Given the description of an element on the screen output the (x, y) to click on. 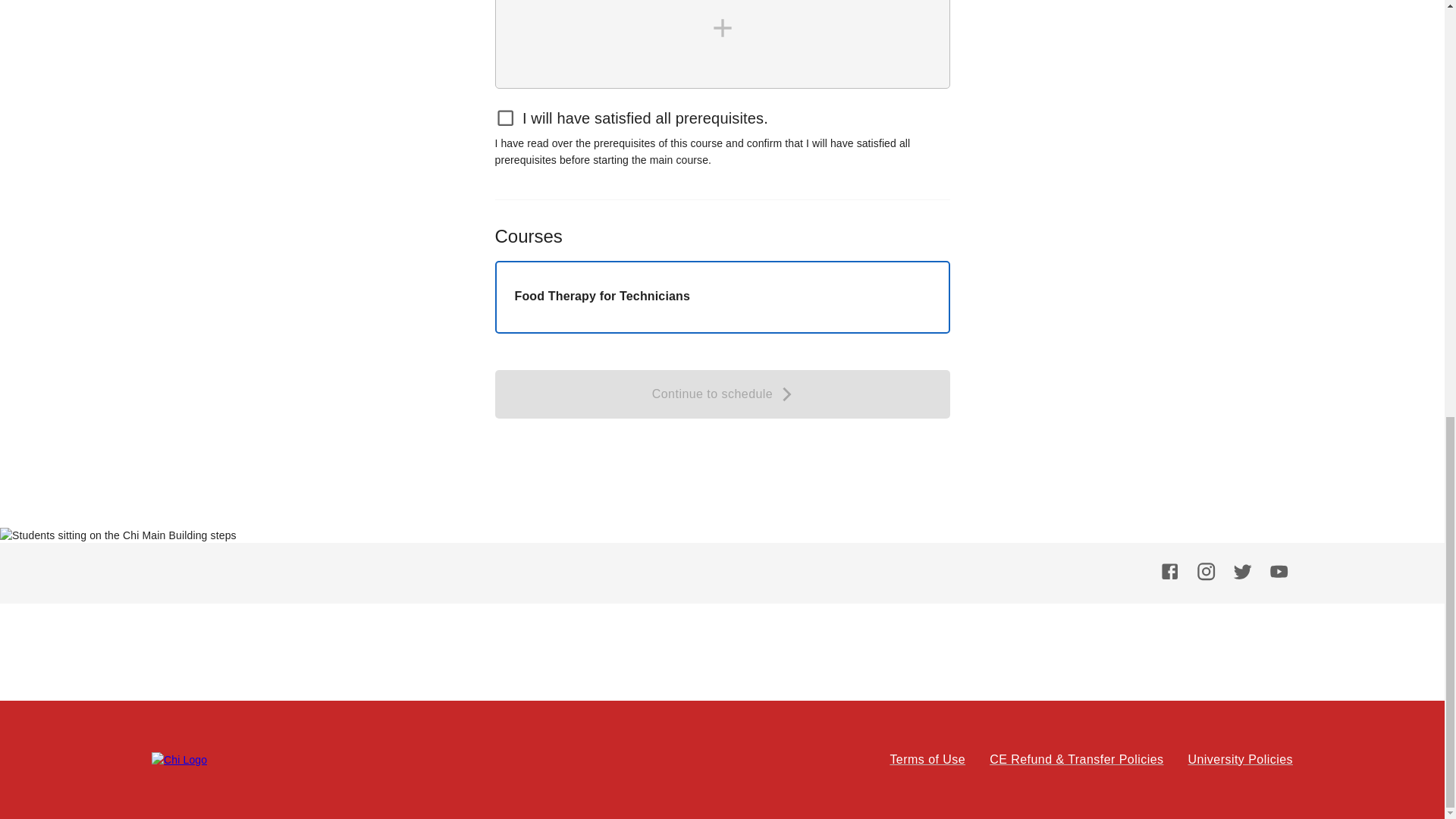
Continue to schedule (722, 394)
Food Therapy for Technicians (722, 297)
Terms of Use (927, 759)
University Policies (1240, 759)
